Given the description of an element on the screen output the (x, y) to click on. 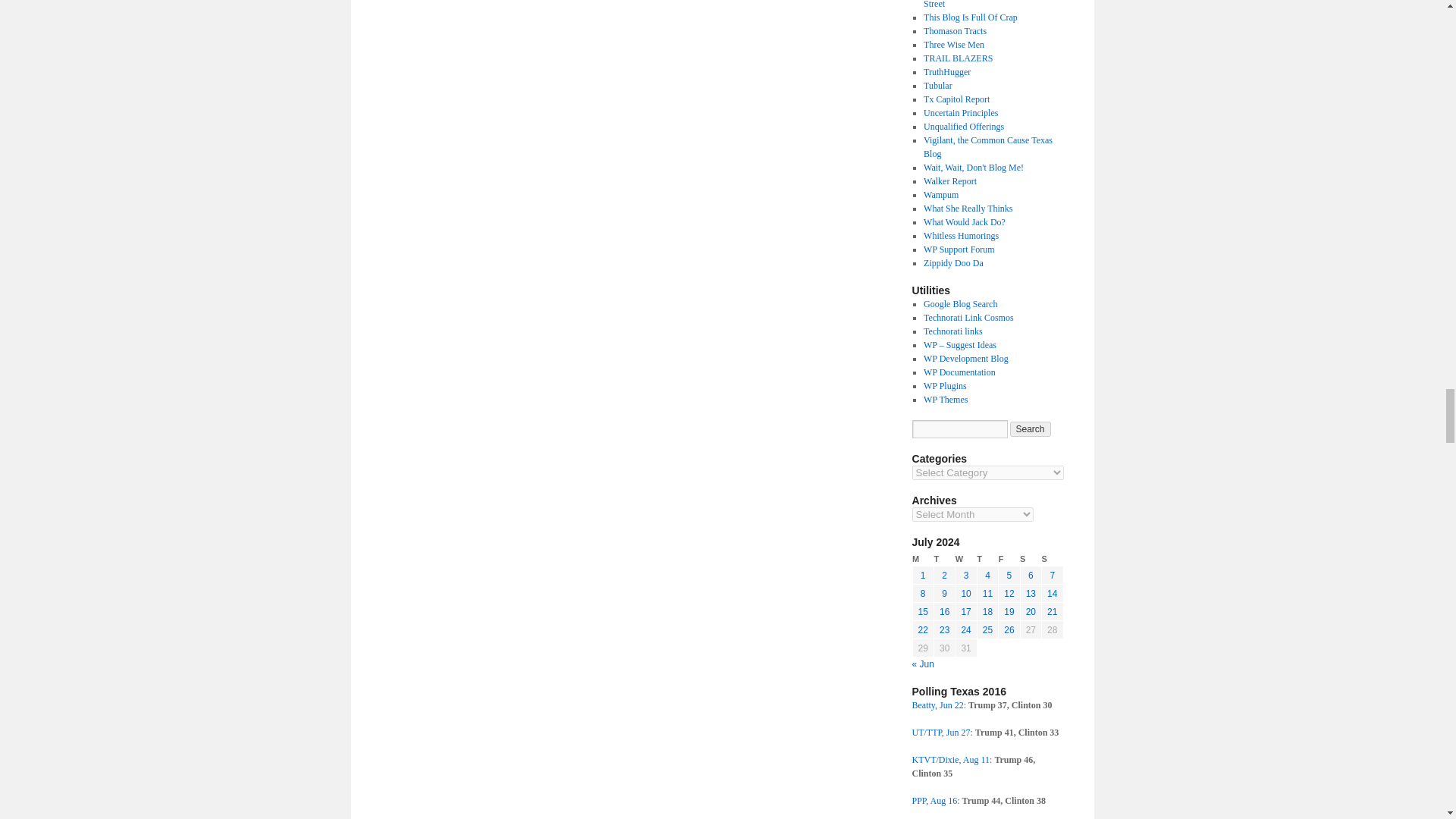
Monday (922, 559)
Tuesday (944, 559)
Search (1030, 428)
